Given the description of an element on the screen output the (x, y) to click on. 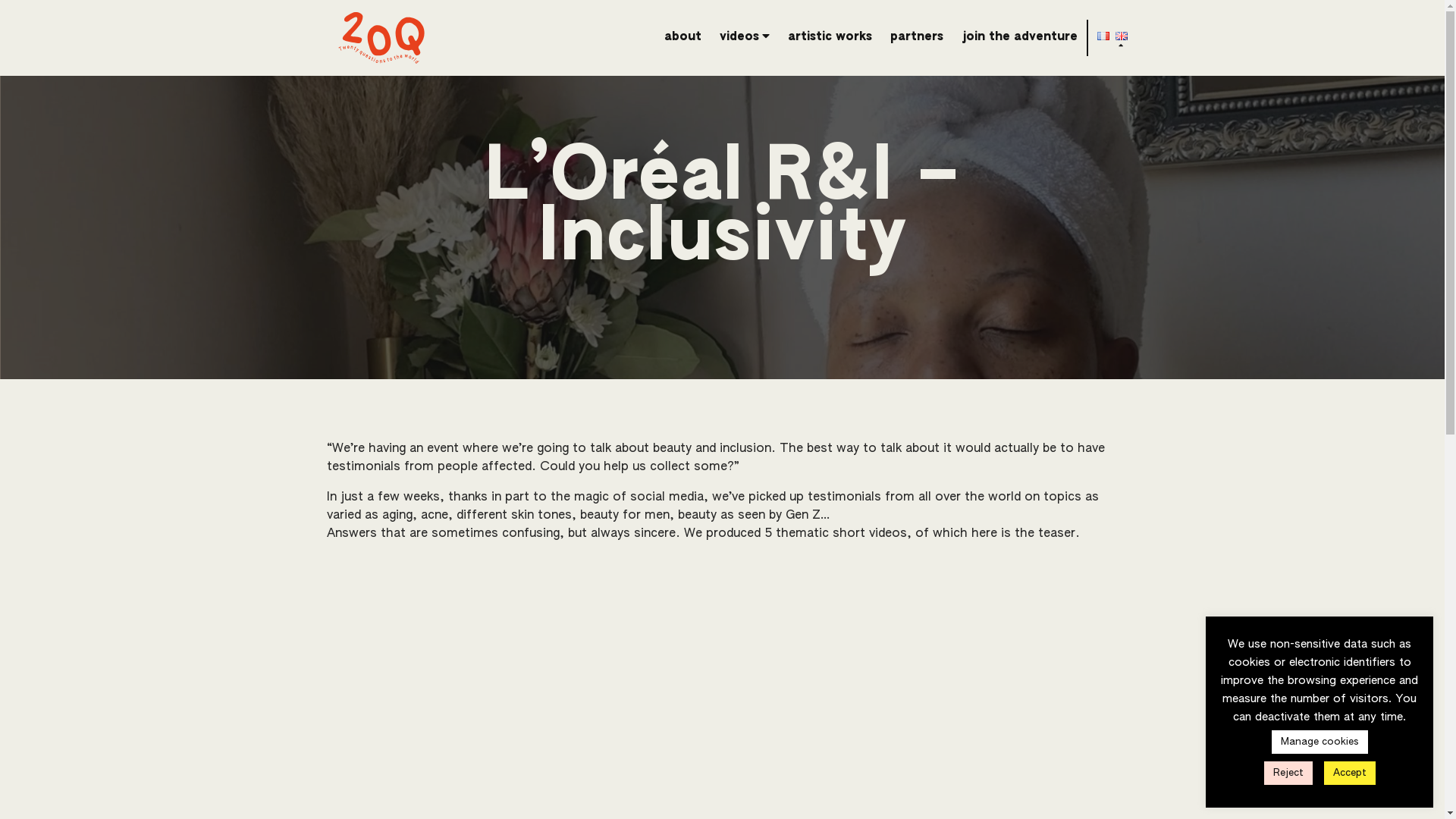
Accept Element type: text (1349, 772)
Back to homepage Element type: hover (380, 37)
join the adventure Element type: text (1019, 37)
partners Element type: text (916, 37)
Manage cookies Element type: text (1318, 741)
about Element type: text (682, 37)
Reject Element type: text (1287, 772)
videos Element type: text (743, 37)
artistic works Element type: text (829, 37)
